Given the description of an element on the screen output the (x, y) to click on. 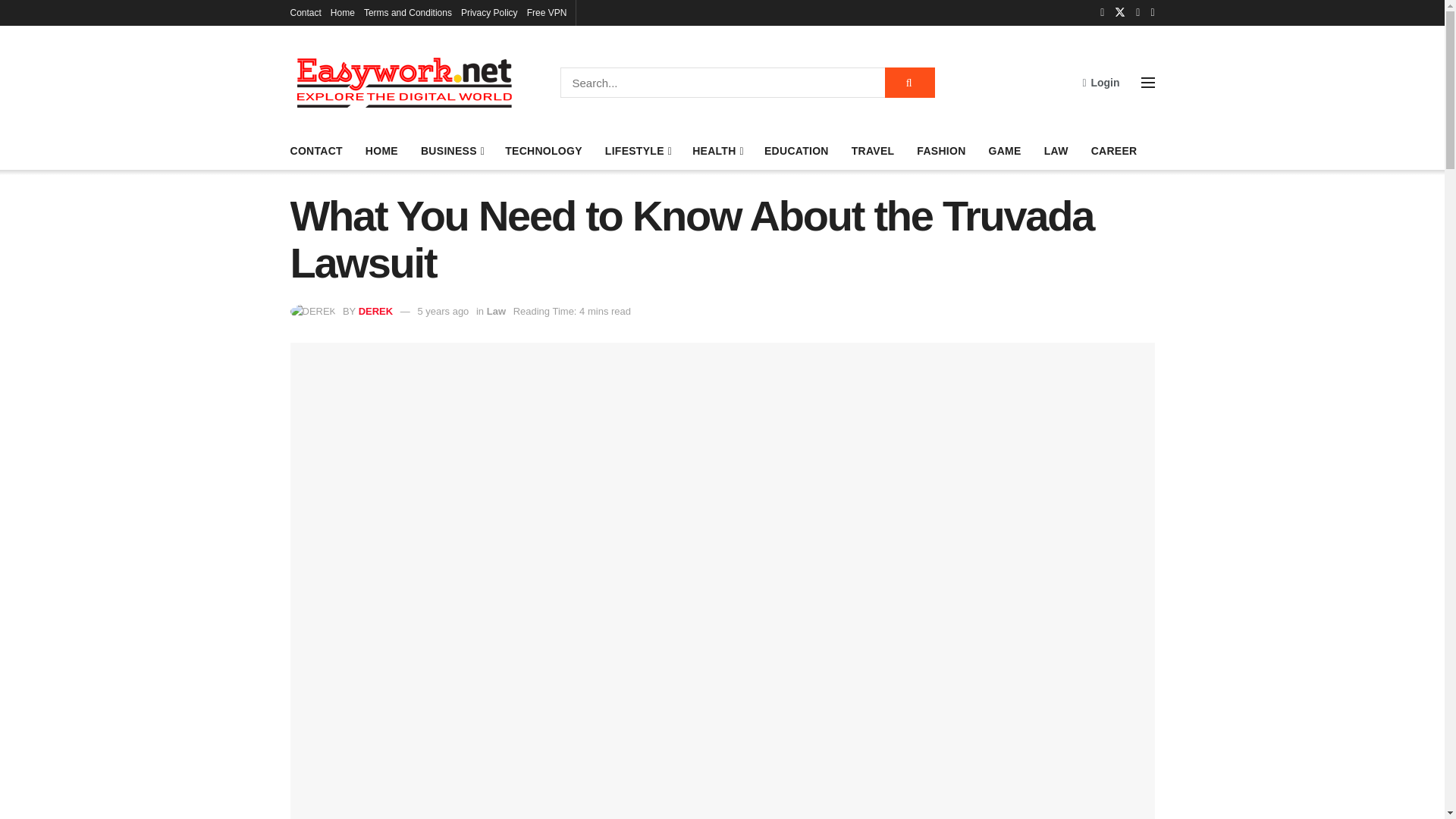
EDUCATION (796, 150)
LIFESTYLE (637, 150)
BUSINESS (450, 150)
Free VPN (547, 12)
Login (1100, 82)
LAW (1055, 150)
Terms and Conditions (407, 12)
Privacy Policy (489, 12)
Contact (304, 12)
HOME (381, 150)
